Given the description of an element on the screen output the (x, y) to click on. 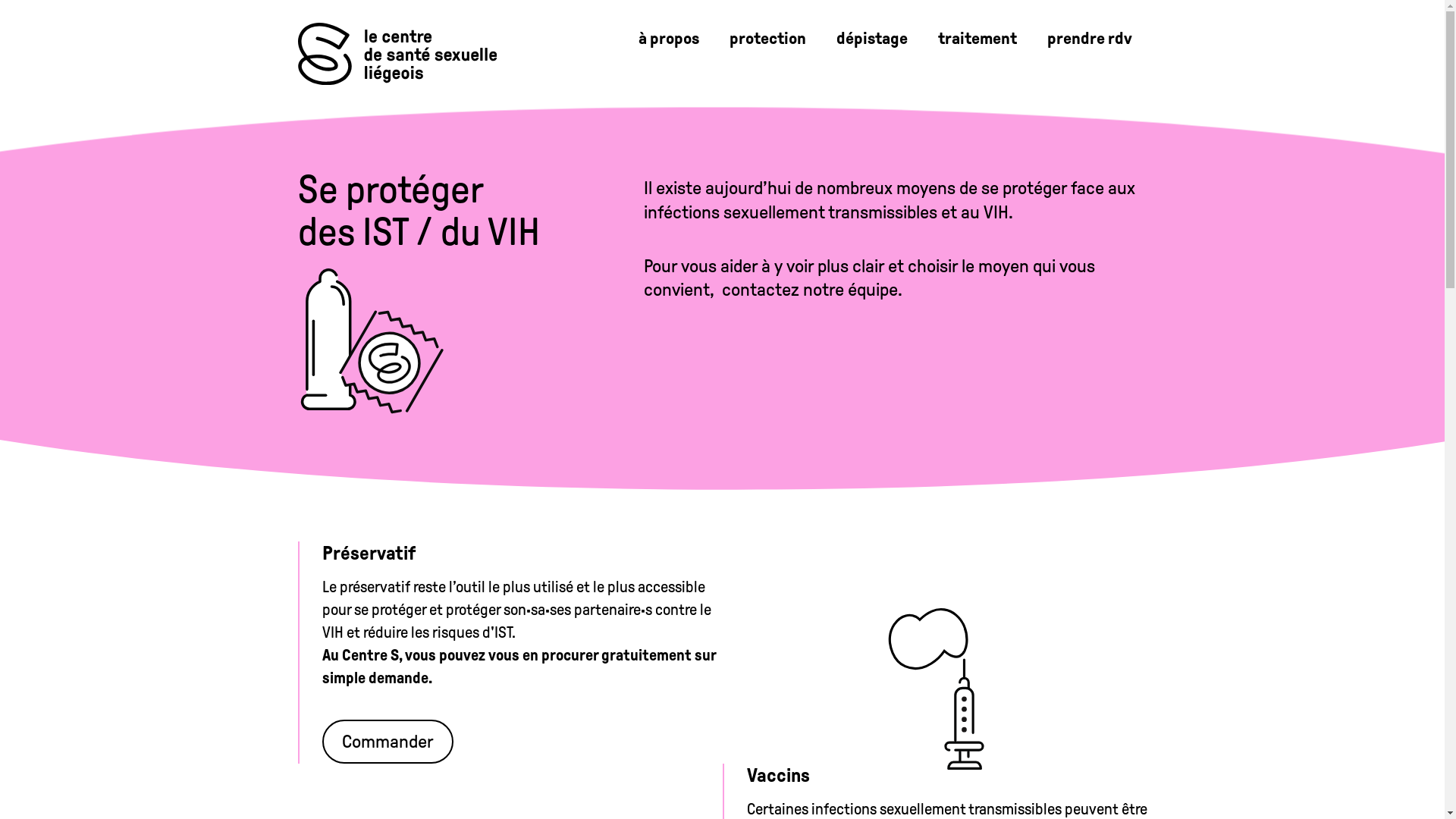
prendre rdv Element type: text (1088, 37)
traitement Element type: text (976, 37)
Commander Element type: text (386, 741)
protection Element type: text (767, 37)
